Given the description of an element on the screen output the (x, y) to click on. 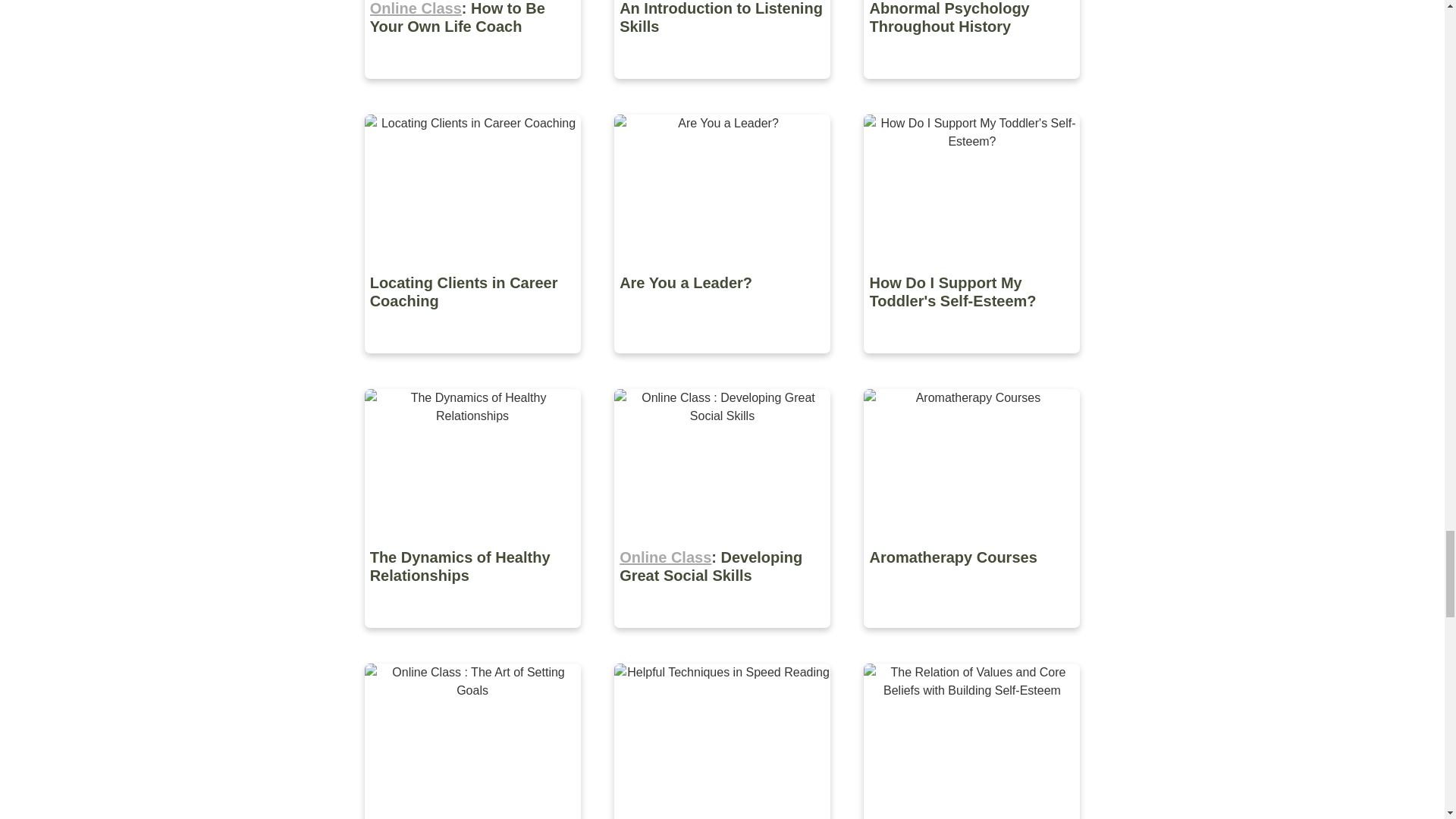
The Dynamics of Healthy Relationships (473, 638)
Online Class: How to Be Your Own Life Coach (473, 89)
Abnormal Psychology Throughout History (971, 89)
How Do I Support My Toddler's Self-Esteem? (971, 364)
Are You a Leader? (723, 364)
Locating Clients in Career Coaching (473, 364)
Online Class: Developing Great Social Skills (723, 638)
Aromatherapy Courses (971, 638)
An Introduction to Listening Skills (723, 89)
